Given the description of an element on the screen output the (x, y) to click on. 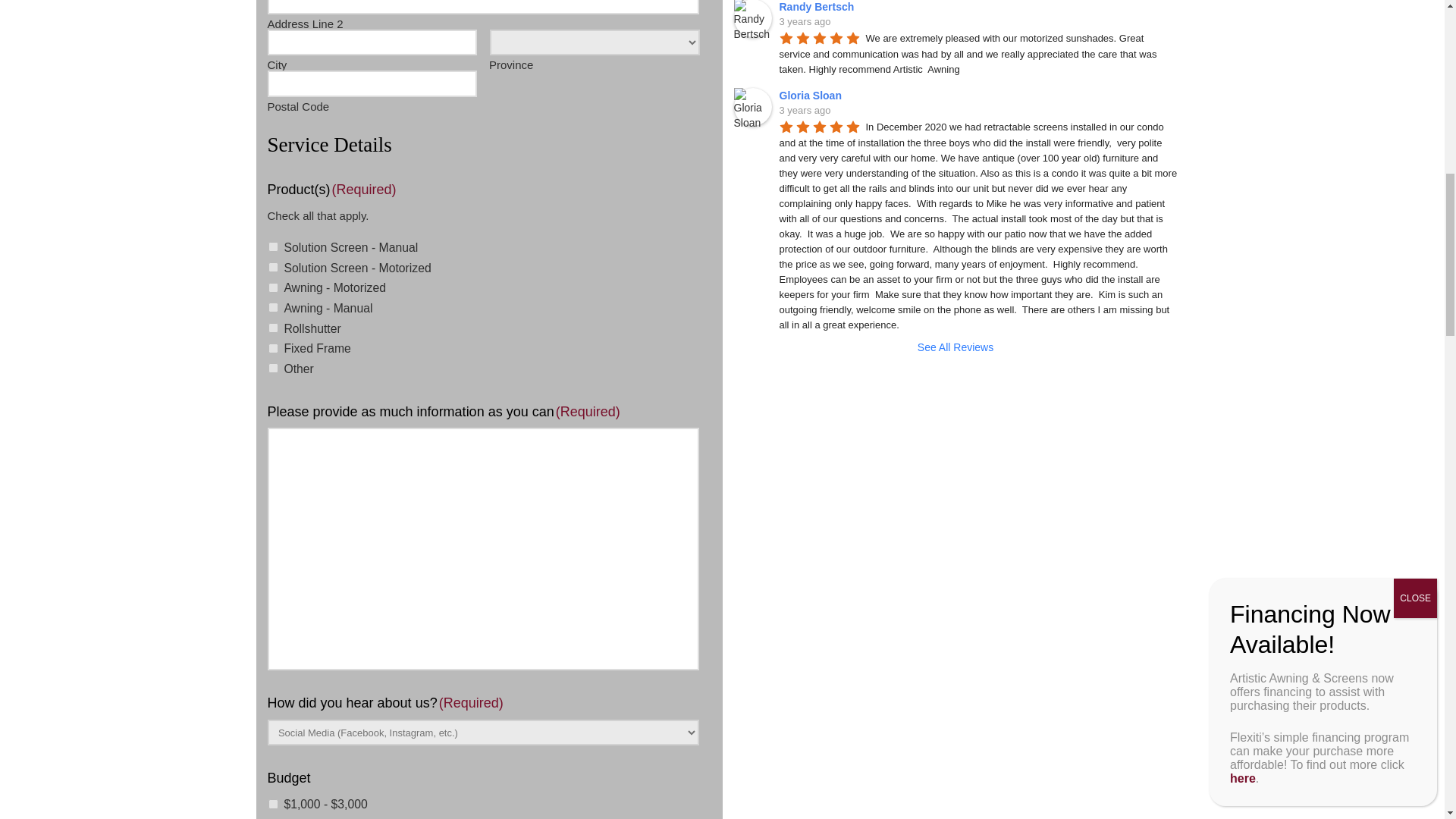
Solution Screen - Motorized (272, 266)
Awning - Manual (272, 307)
Solution Screen - Manual (272, 246)
Randy Bertsch (752, 18)
Fixed Frame (272, 347)
Other (272, 368)
Gloria Sloan (752, 106)
Awning - Motorized (272, 287)
Rollshutter (272, 327)
Randy Bertsch (818, 6)
